Given the description of an element on the screen output the (x, y) to click on. 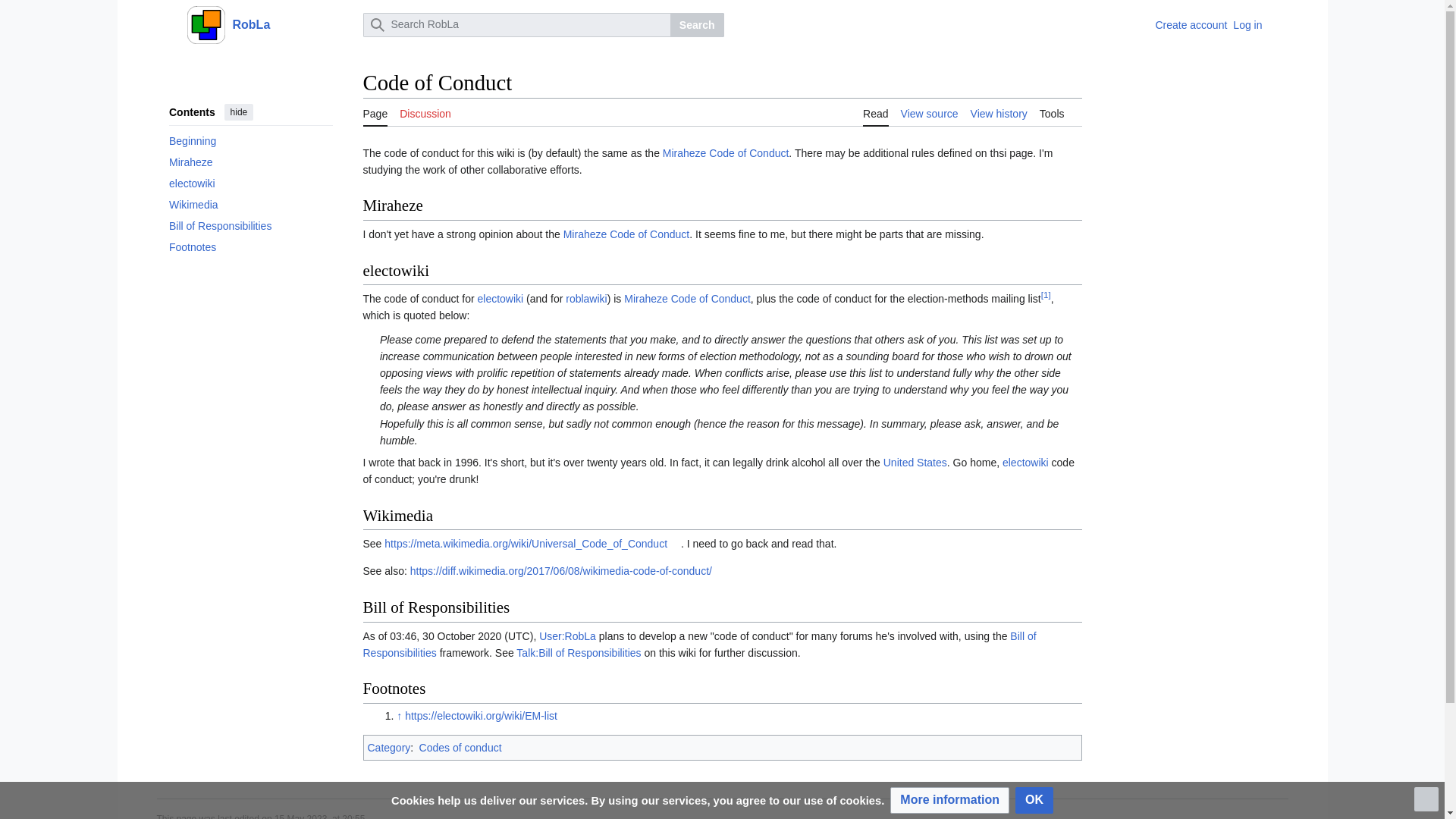
Miraheze (249, 161)
Footnotes (249, 246)
View source (929, 112)
Beginning (249, 140)
Wikimedia (249, 204)
View history (999, 112)
Bill of Responsibilities (249, 225)
Log in (1247, 24)
Discussion (424, 112)
Create account (1190, 24)
More options (1280, 24)
hide (238, 112)
RobLa (270, 24)
Search (696, 24)
